Given the description of an element on the screen output the (x, y) to click on. 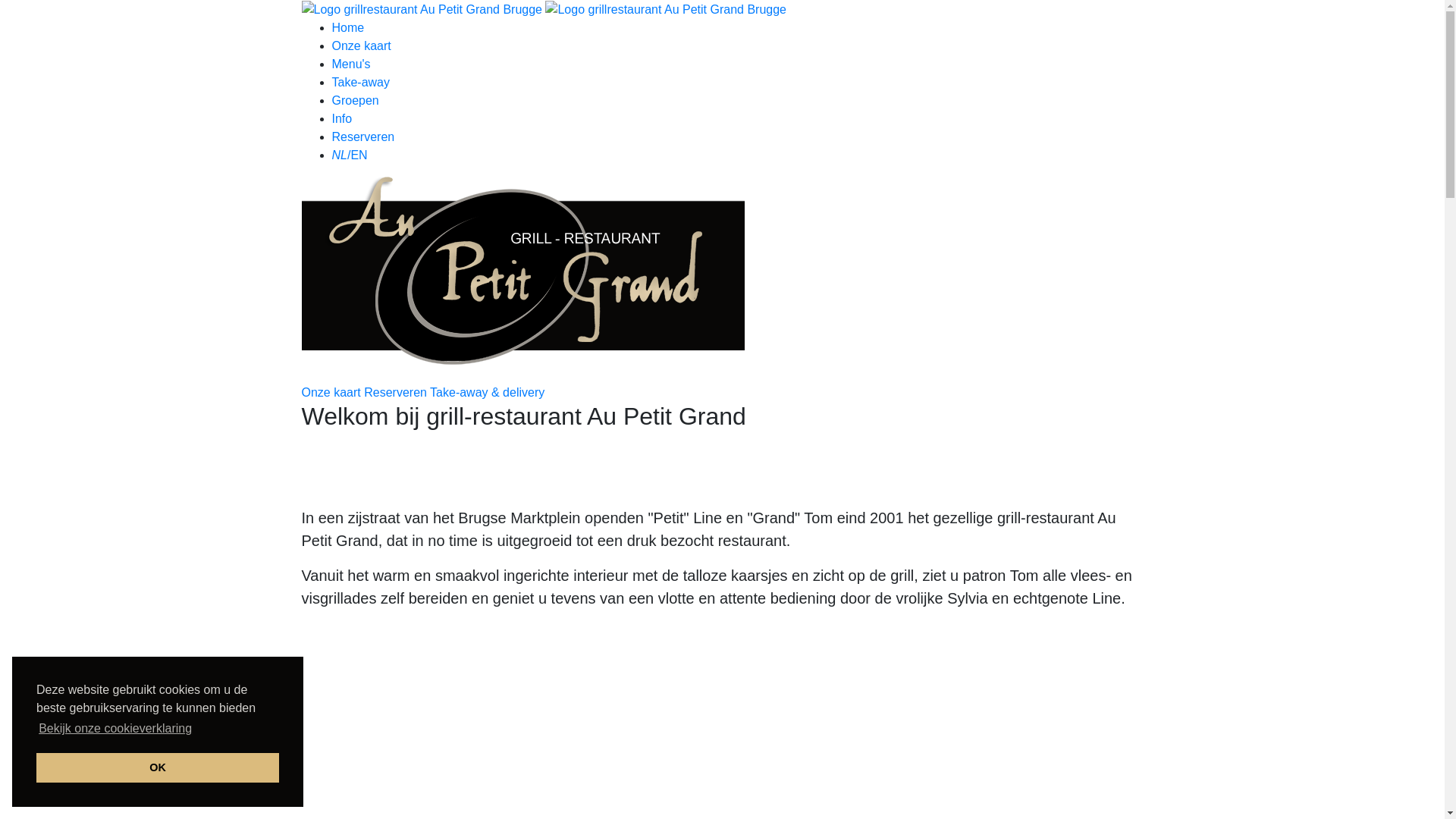
OK Element type: text (157, 767)
Onze kaart Element type: text (330, 391)
Bekijk onze cookieverklaring Element type: text (115, 728)
Reserveren Element type: text (395, 391)
NL/EN Element type: text (737, 155)
Onze kaart Element type: text (737, 46)
Take-away & delivery Element type: text (486, 391)
Take-away Element type: text (737, 82)
Info Element type: text (737, 118)
Home Element type: text (737, 27)
Reserveren Element type: text (737, 137)
Menu's Element type: text (737, 64)
Groepen Element type: text (737, 100)
